Given the description of an element on the screen output the (x, y) to click on. 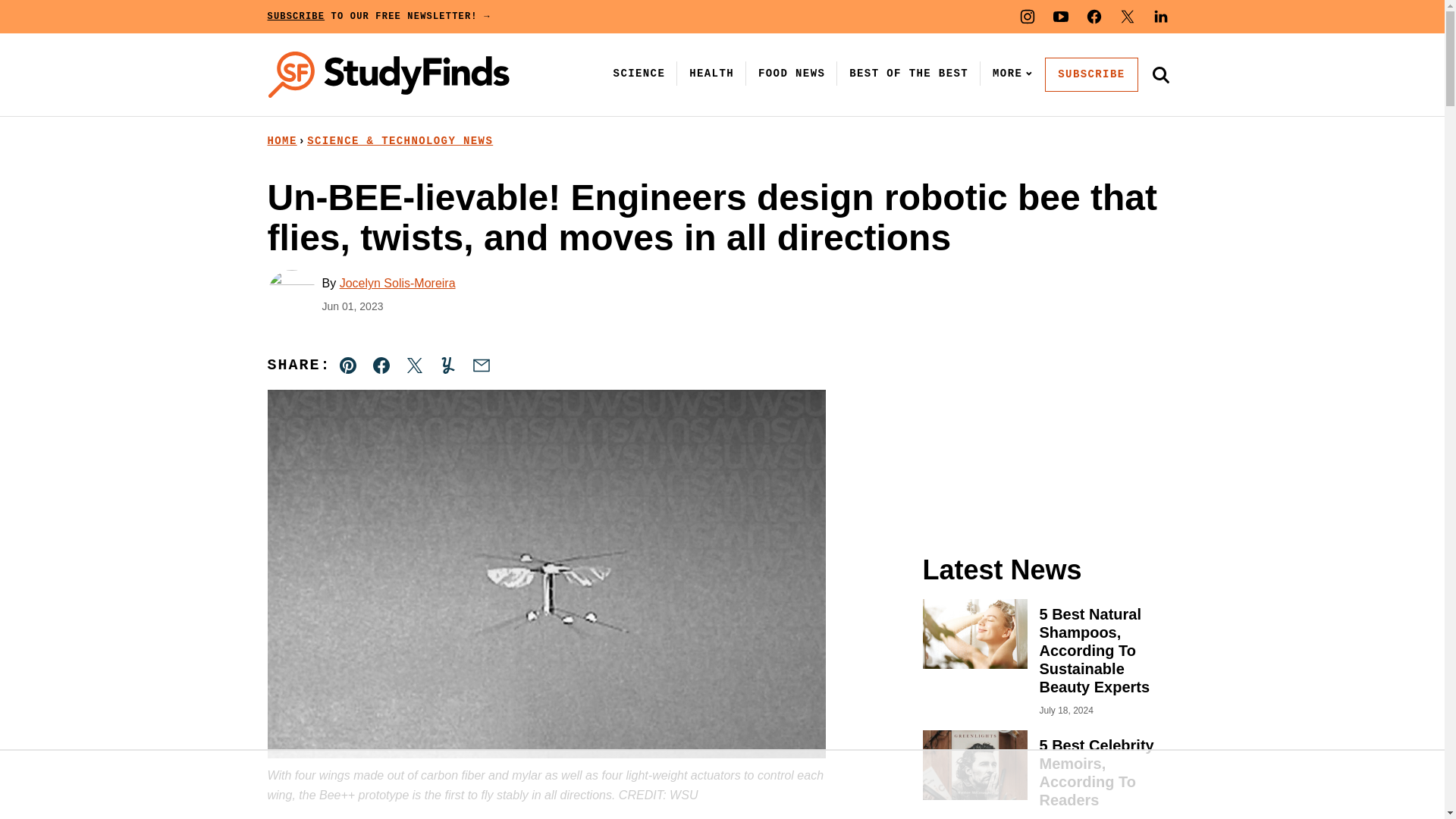
MORE (1009, 73)
Share on Pinterest (348, 365)
Share on Yummly (447, 365)
Share via Email (480, 365)
Share on Facebook (381, 365)
FOOD NEWS (791, 73)
SCIENCE (639, 73)
BEST OF THE BEST (908, 73)
HOME (281, 141)
Share on Twitter (413, 365)
HEALTH (711, 73)
SUBSCRIBE (1091, 74)
